Given the description of an element on the screen output the (x, y) to click on. 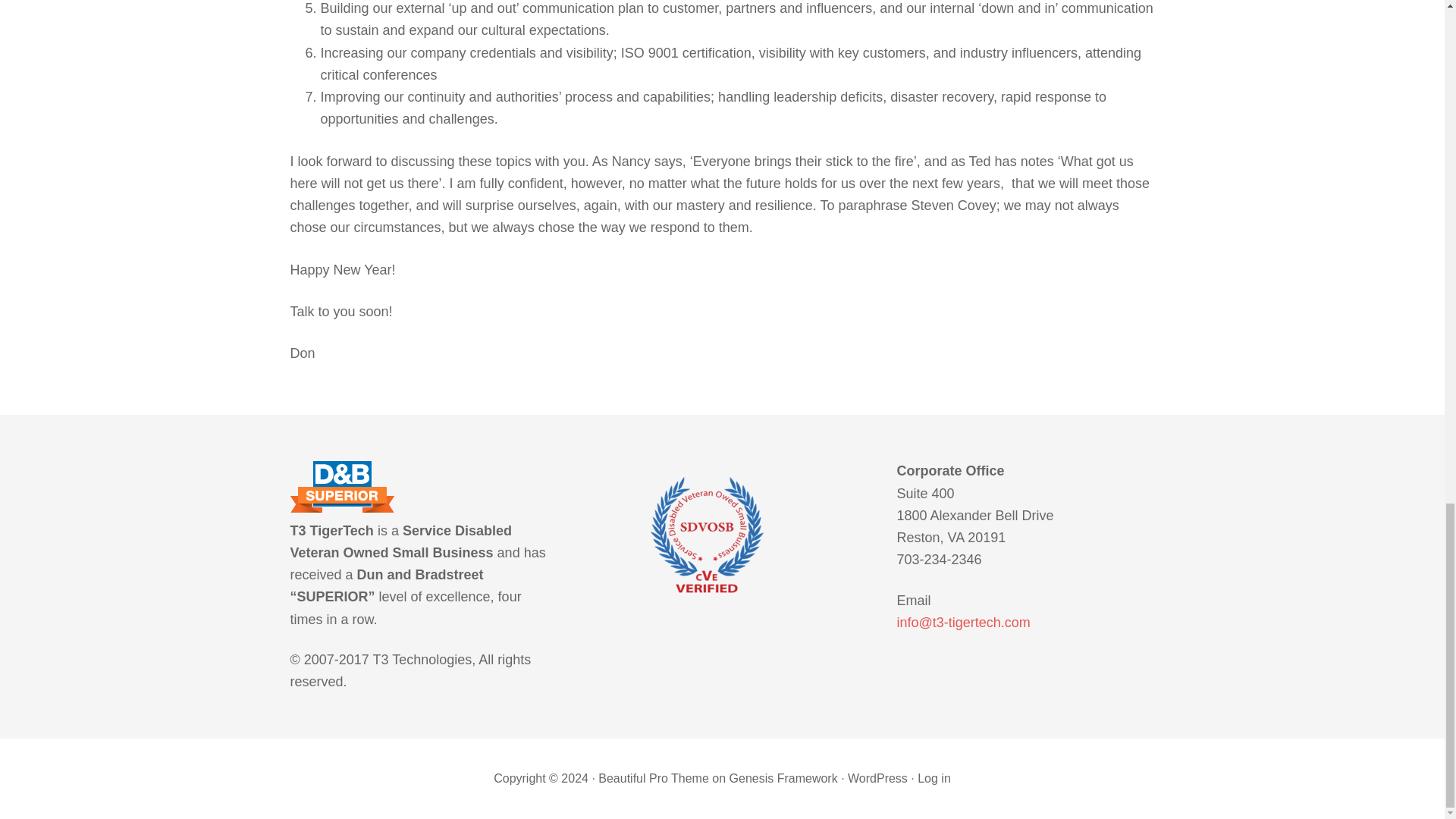
WordPress (877, 778)
Beautiful Pro Theme (653, 778)
Log in (933, 778)
Genesis Framework (783, 778)
